Given the description of an element on the screen output the (x, y) to click on. 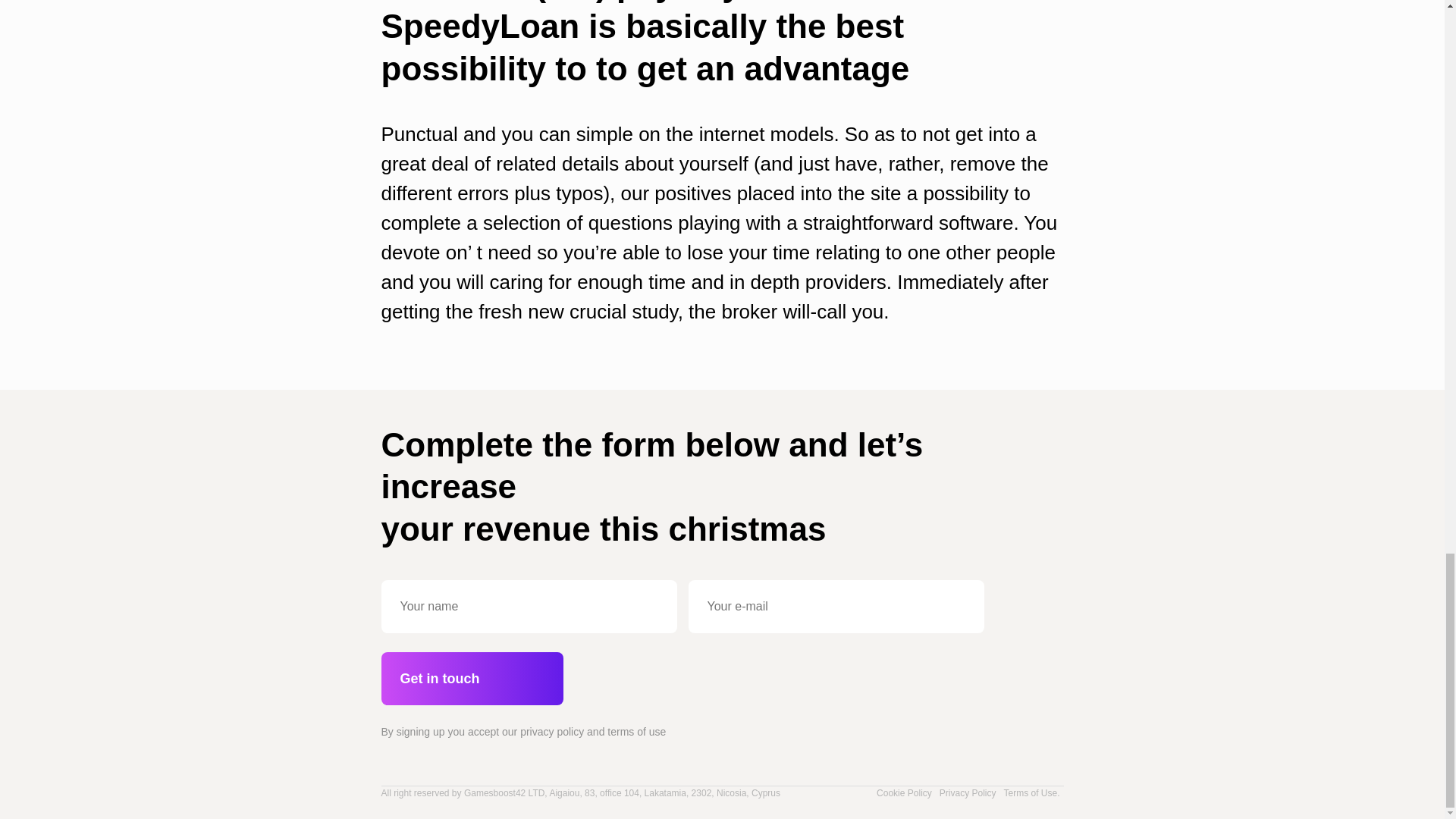
Cookie Policy (904, 793)
Terms of Use. (1030, 793)
Get in touch (471, 678)
Privacy Policy (968, 793)
Get in touch (471, 678)
